Given the description of an element on the screen output the (x, y) to click on. 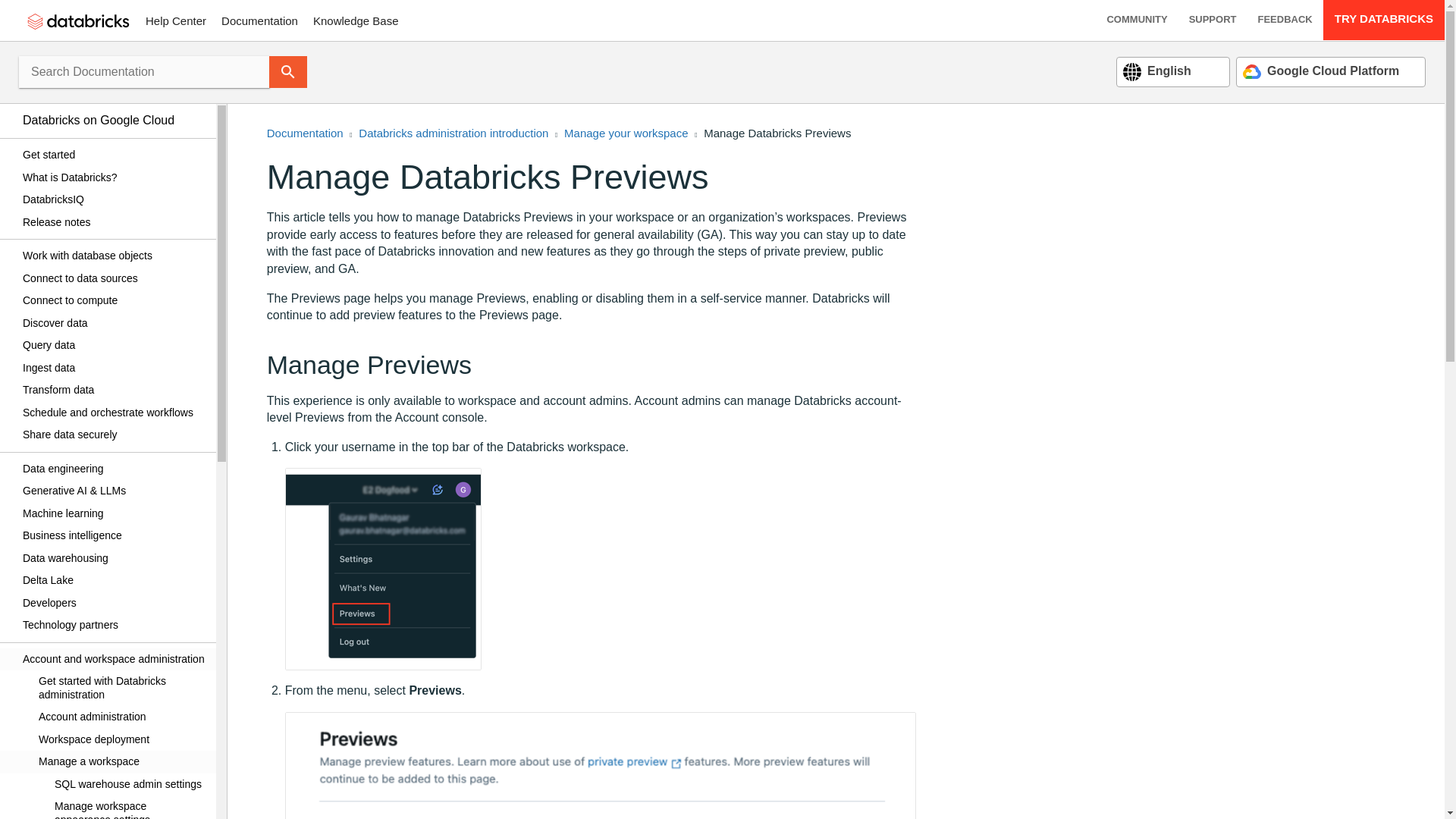
DatabricksIQ (113, 200)
COMMUNITY (1136, 19)
Databricks on Google Cloud (113, 120)
Business intelligence (113, 535)
Machine learning (113, 513)
Release notes (113, 221)
English (1156, 72)
Account and workspace administration (113, 658)
Ingest data (113, 367)
FEEDBACK (1284, 19)
